Given the description of an element on the screen output the (x, y) to click on. 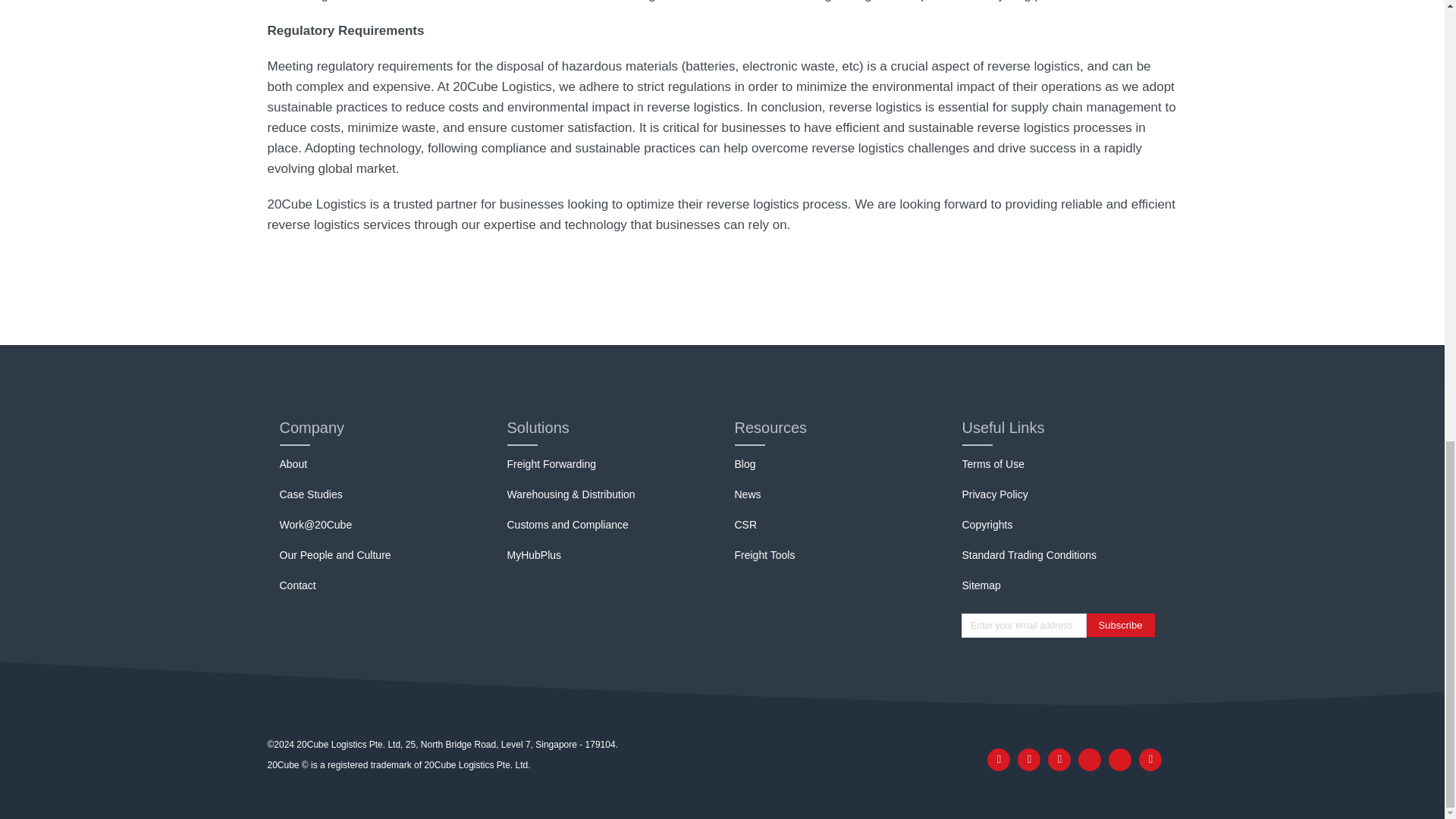
instagram (1119, 759)
X (1089, 759)
